Given the description of an element on the screen output the (x, y) to click on. 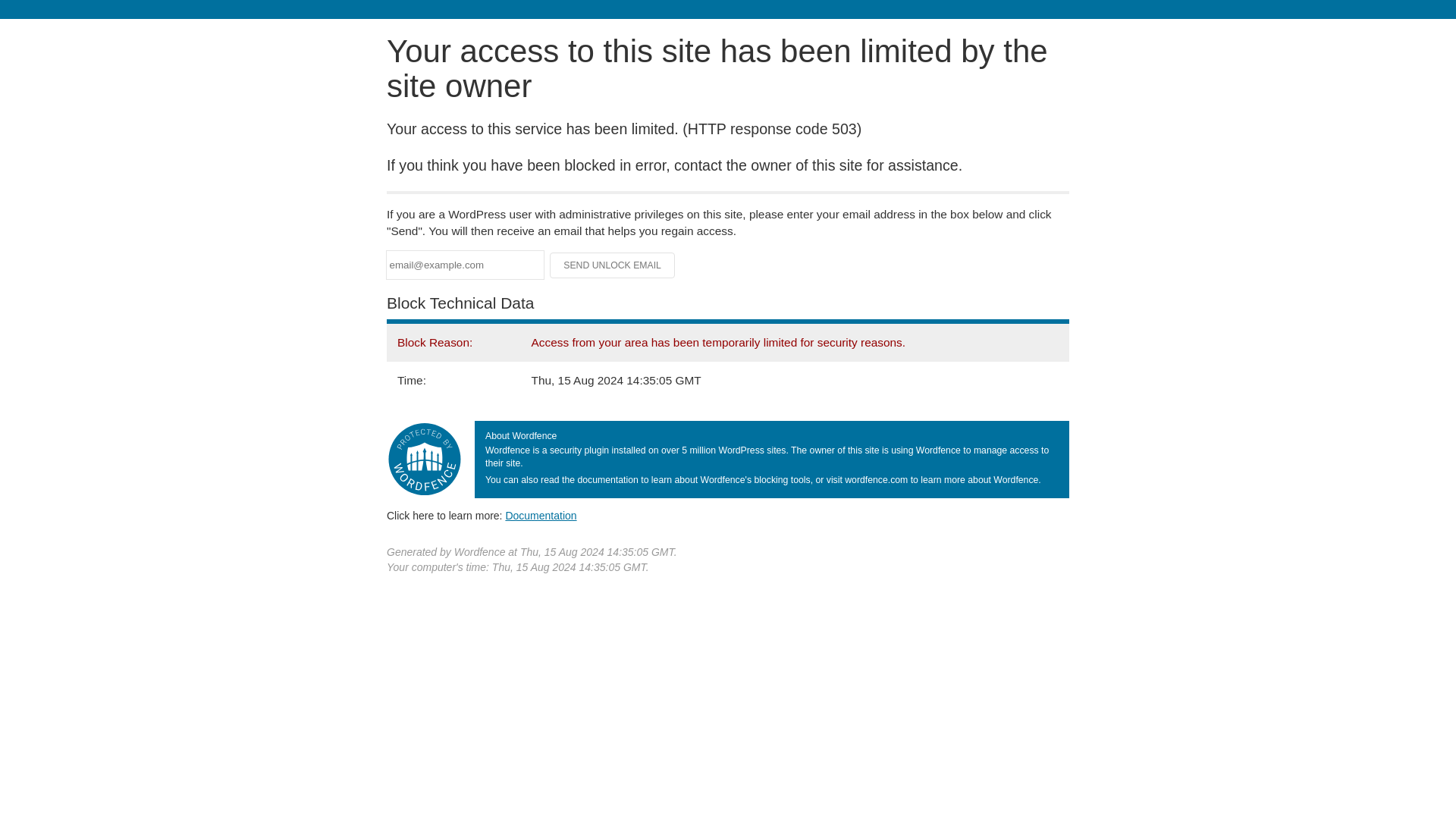
Send Unlock Email (612, 265)
Documentation (540, 515)
Send Unlock Email (612, 265)
